Given the description of an element on the screen output the (x, y) to click on. 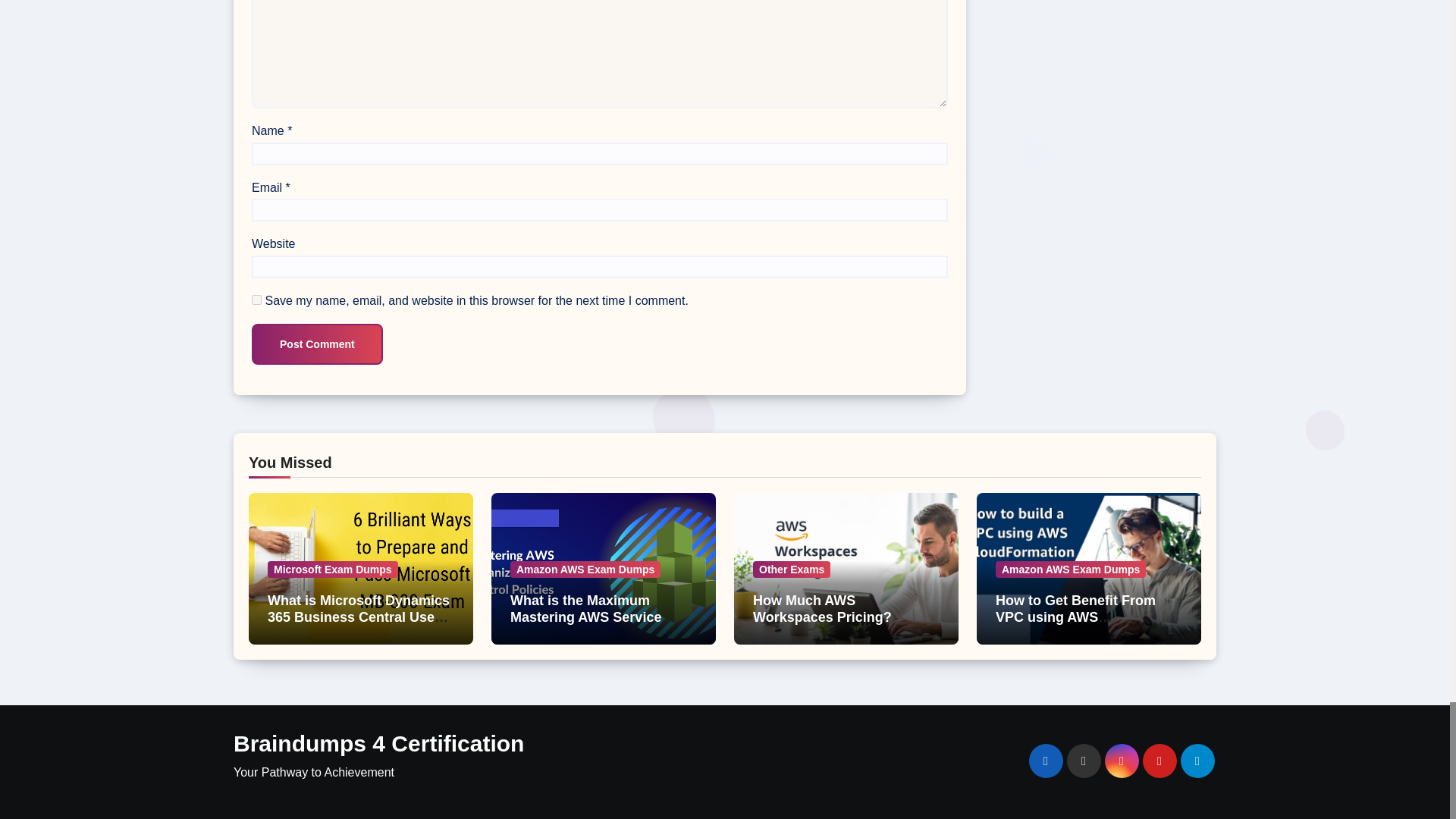
yes (256, 299)
Post Comment (316, 343)
